Given the description of an element on the screen output the (x, y) to click on. 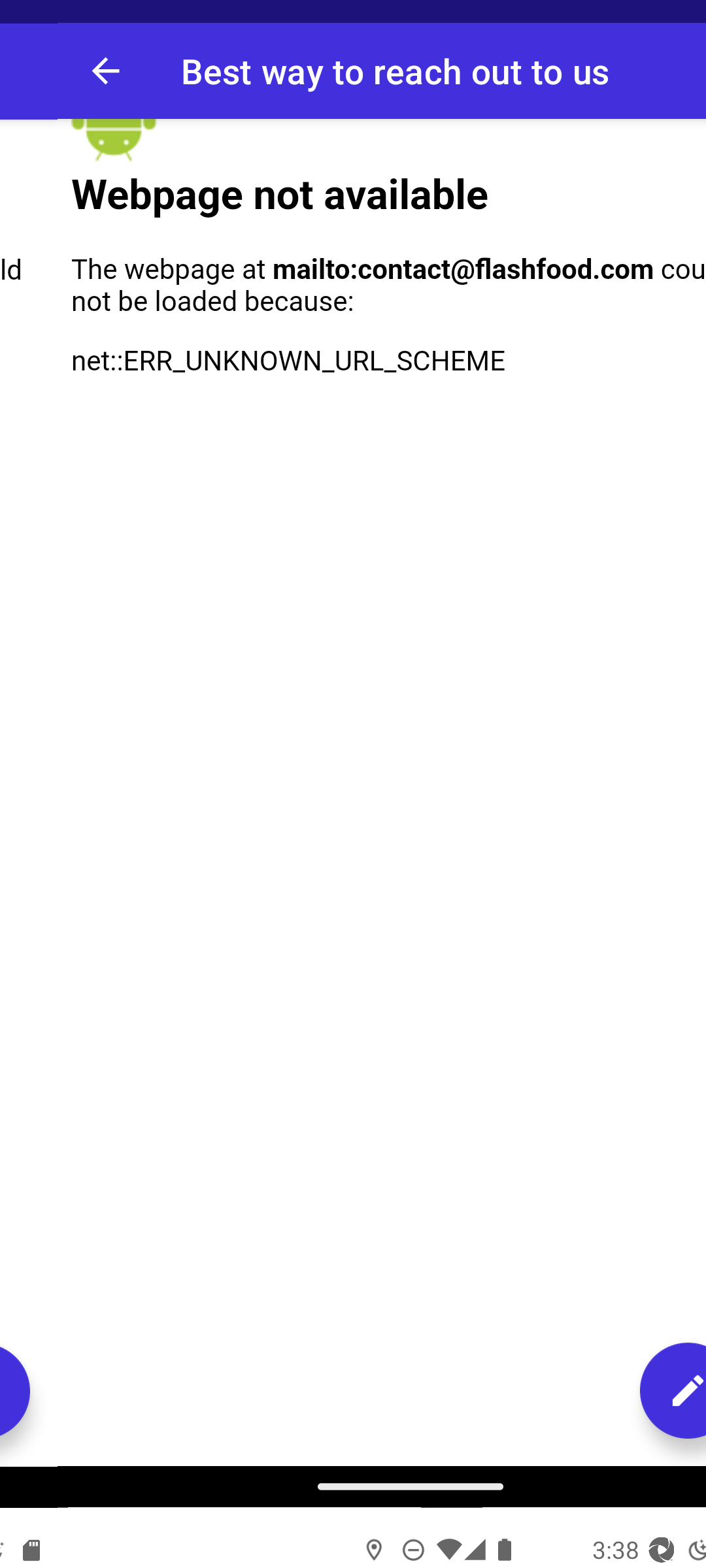
Receipts (299, 382)
